Given the description of an element on the screen output the (x, y) to click on. 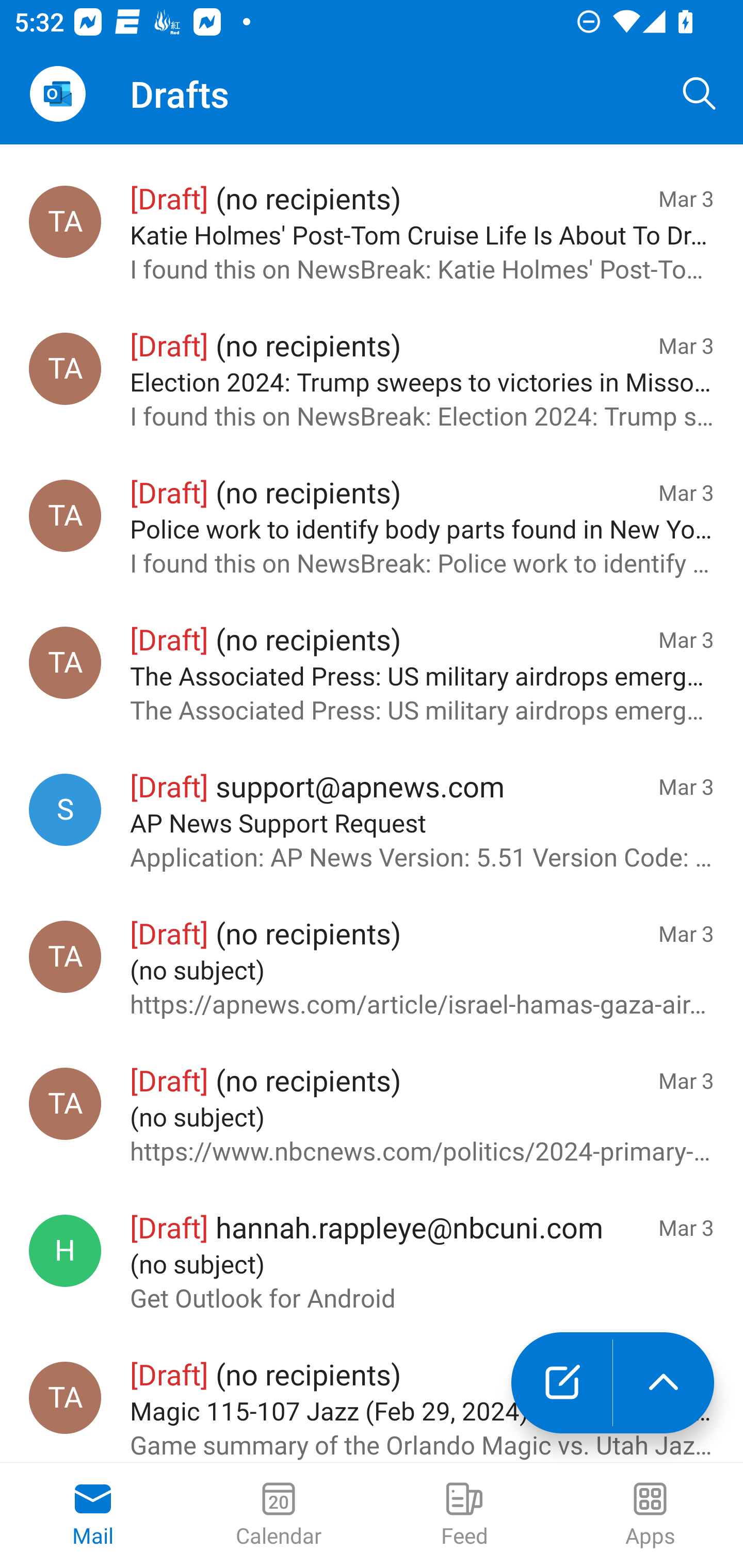
Search, ,  (699, 93)
Open Navigation Drawer (57, 94)
Test Appium, testappium002@outlook.com (64, 221)
Test Appium, testappium002@outlook.com (64, 368)
Test Appium, testappium002@outlook.com (64, 515)
Test Appium, testappium002@outlook.com (64, 663)
support@apnews.com (64, 809)
Test Appium, testappium002@outlook.com (64, 956)
Test Appium, testappium002@outlook.com (64, 1103)
hannah.rappleye@nbcuni.com (64, 1251)
New mail (561, 1382)
launch the extended action menu (663, 1382)
Test Appium, testappium002@outlook.com (64, 1397)
Calendar (278, 1515)
Feed (464, 1515)
Apps (650, 1515)
